Given the description of an element on the screen output the (x, y) to click on. 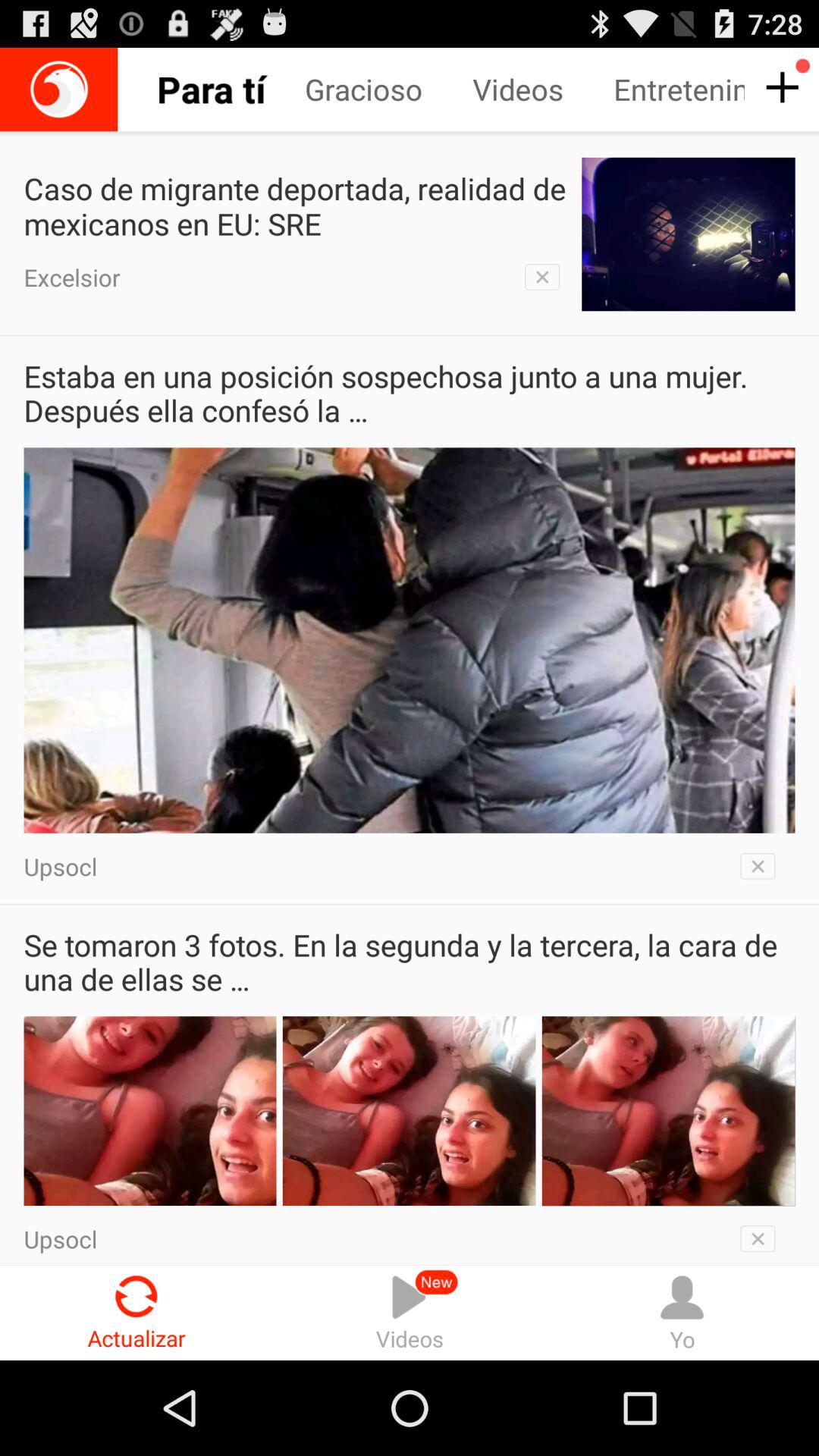
launch item to the left of videos item (136, 1312)
